Given the description of an element on the screen output the (x, y) to click on. 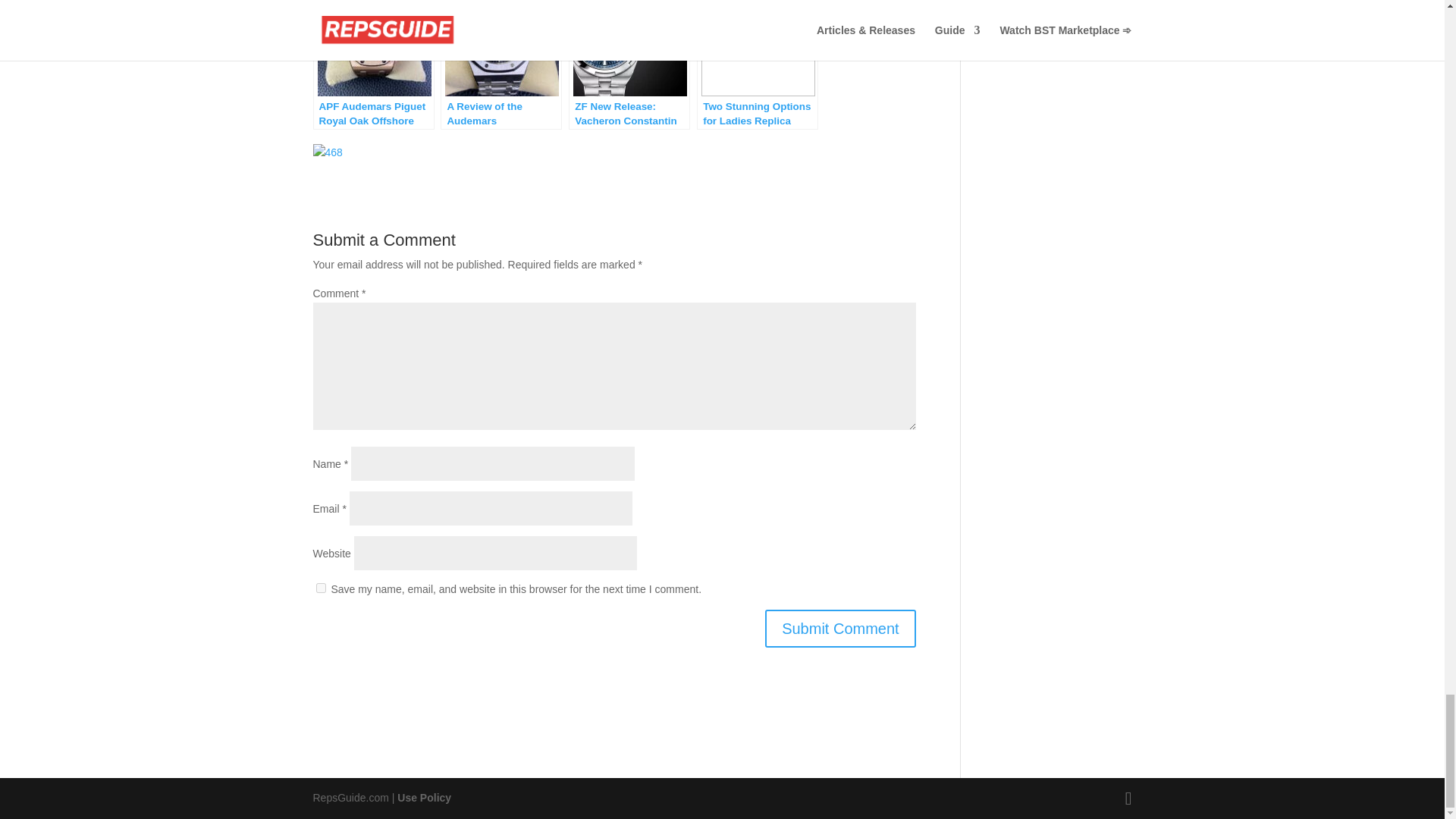
yes (319, 587)
APF Audemars Piguet Royal Oak Offshore Chrono Seconds at 12 (373, 64)
Submit Comment (840, 628)
Submit Comment (840, 628)
APF Audemars Piguet Royal Oak Offshore Chrono Seconds at 12 (373, 64)
